Given the description of an element on the screen output the (x, y) to click on. 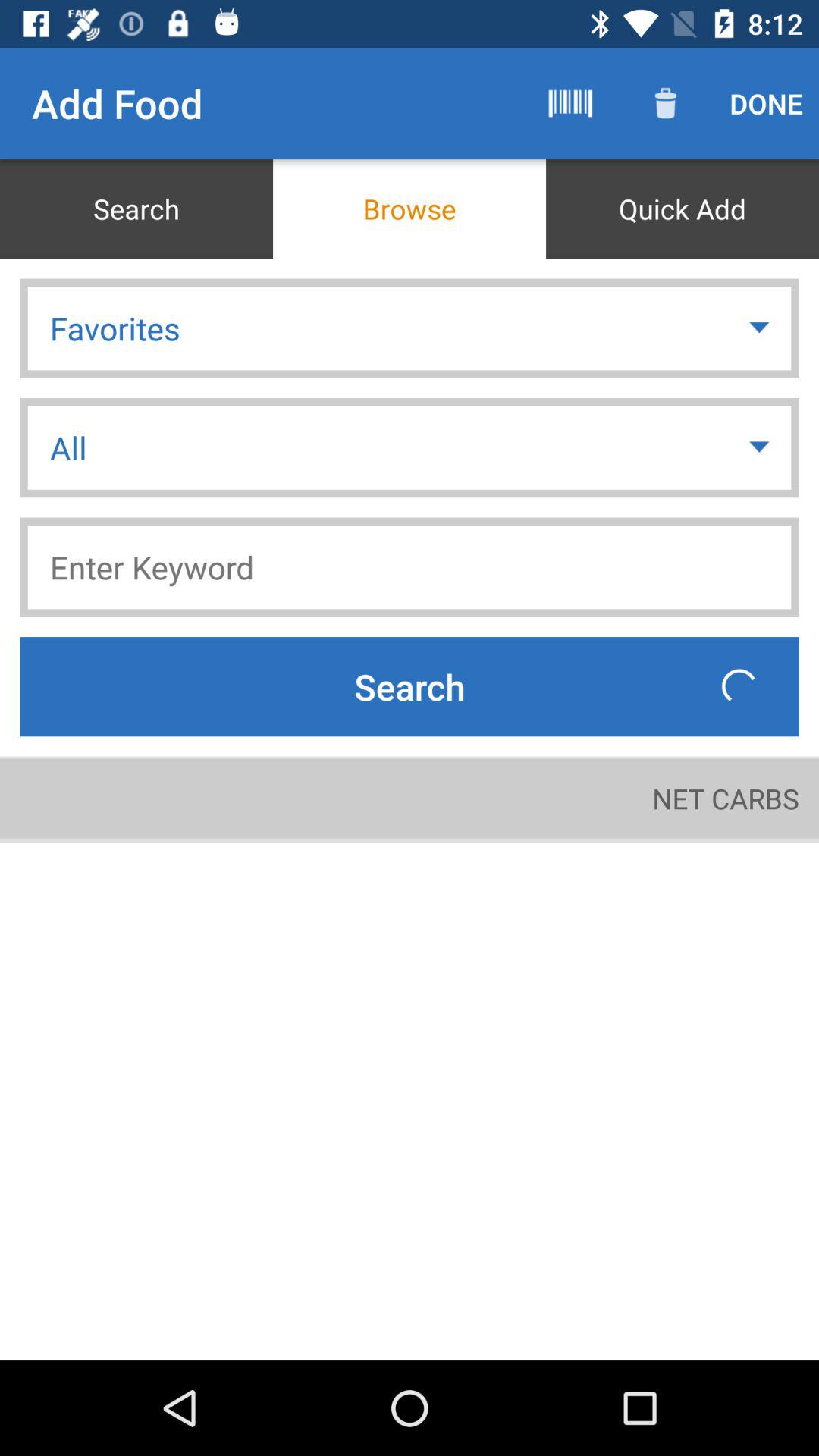
press icon above the all item (409, 328)
